Given the description of an element on the screen output the (x, y) to click on. 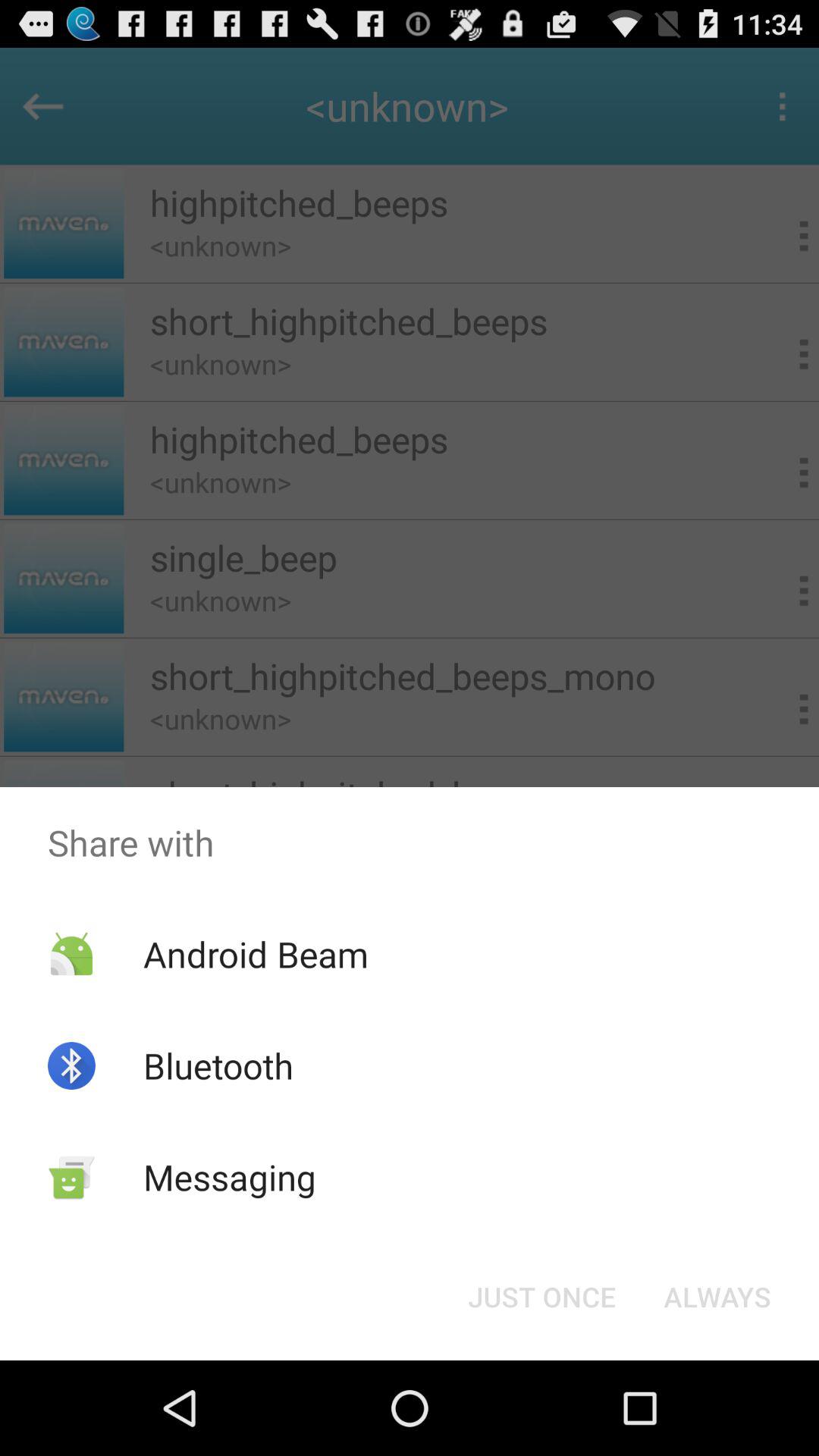
press the android beam (255, 953)
